Given the description of an element on the screen output the (x, y) to click on. 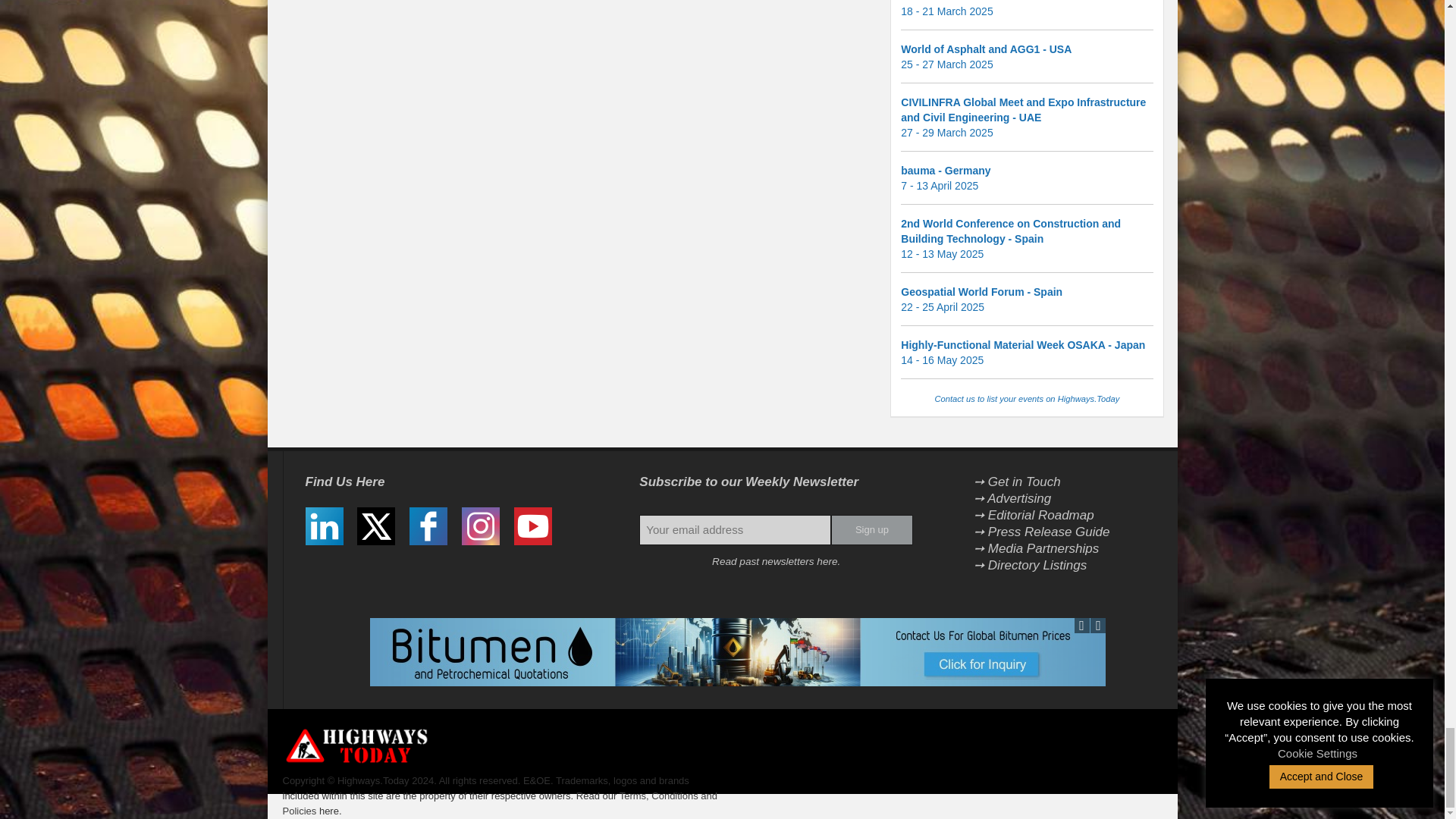
Sign up (871, 530)
